Given the description of an element on the screen output the (x, y) to click on. 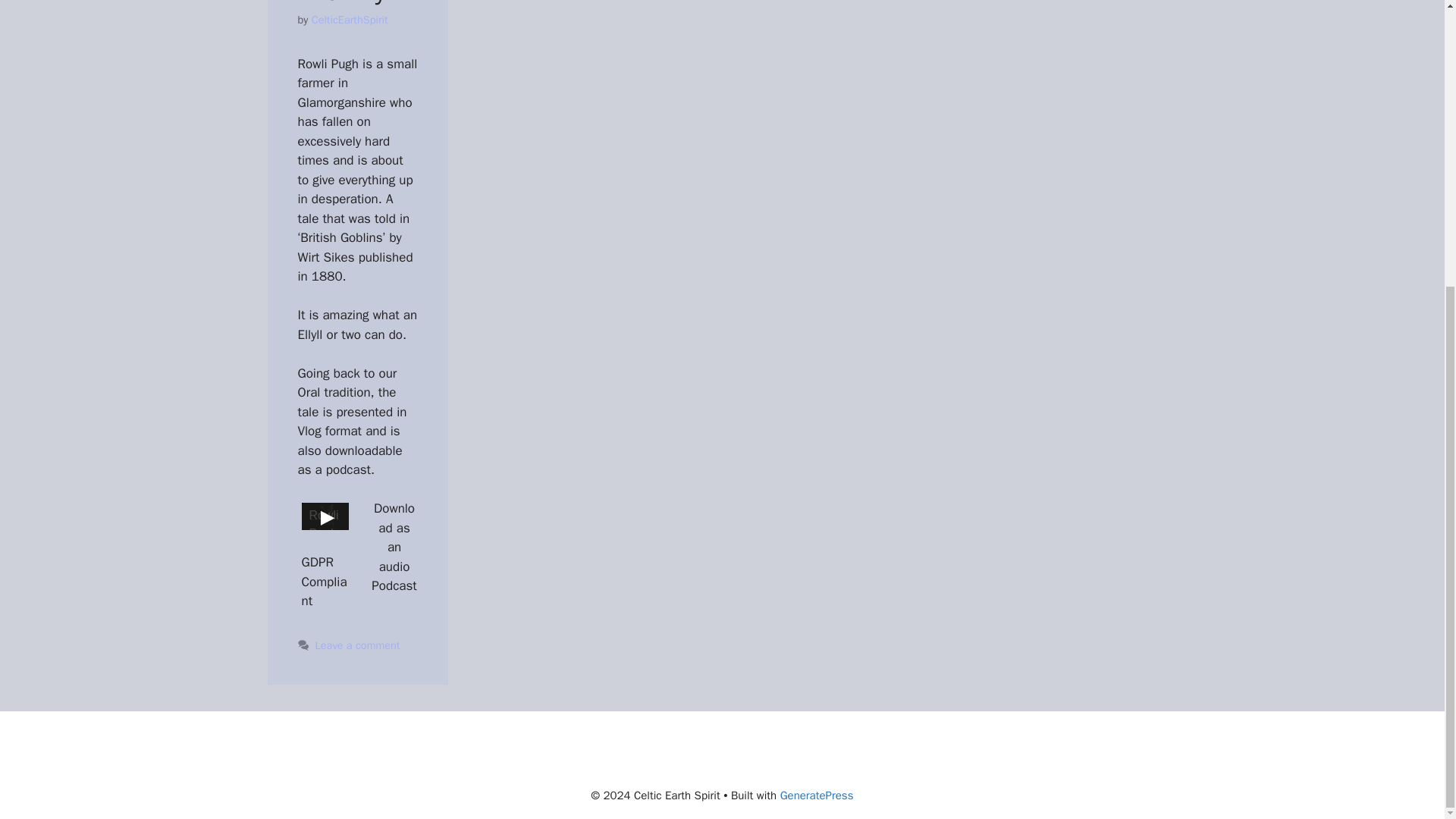
CelticEarthSpirit (349, 19)
GeneratePress (816, 795)
View all posts by CelticEarthSpirit (349, 19)
Leave a comment (357, 644)
